Given the description of an element on the screen output the (x, y) to click on. 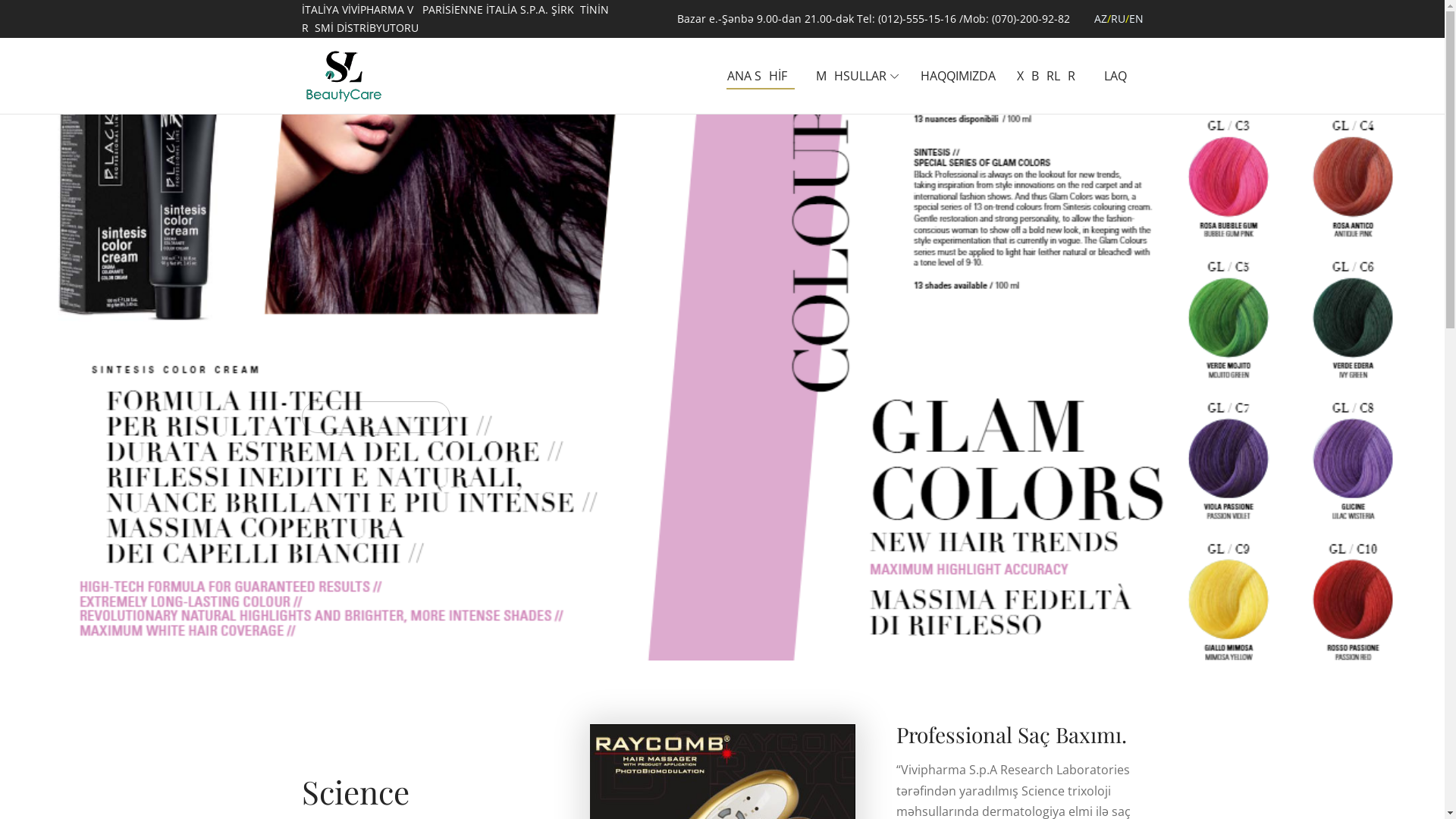
EN Element type: text (1135, 18)
HAQQIMIZDA Element type: text (957, 75)
AZ Element type: text (1099, 18)
RU Element type: text (1117, 18)
